Given the description of an element on the screen output the (x, y) to click on. 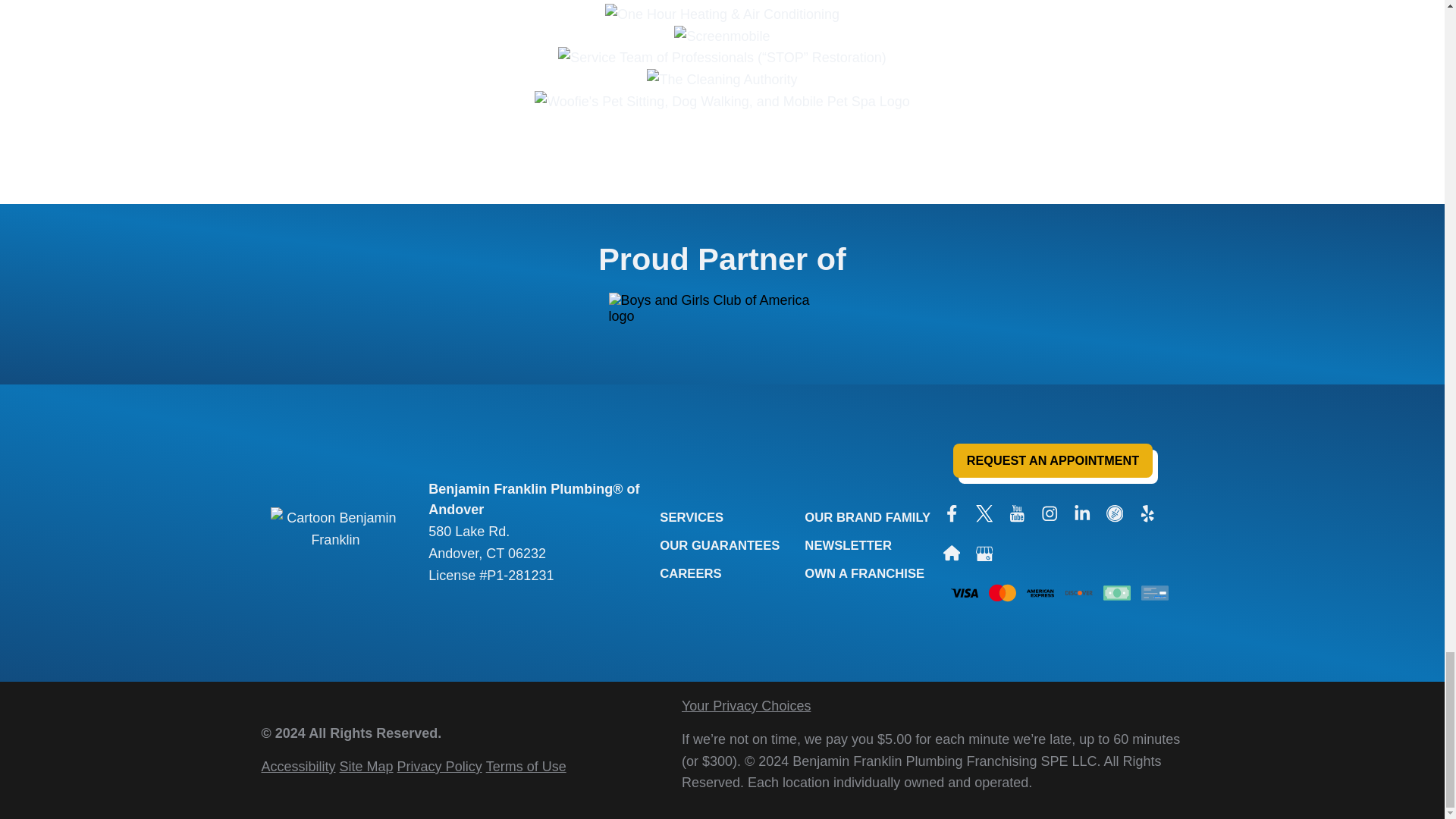
Career Plug logo (1115, 513)
YouTube logo (1017, 513)
Twitter logo (983, 513)
Instagram logo (1049, 513)
Facebook logo (951, 513)
